Given the description of an element on the screen output the (x, y) to click on. 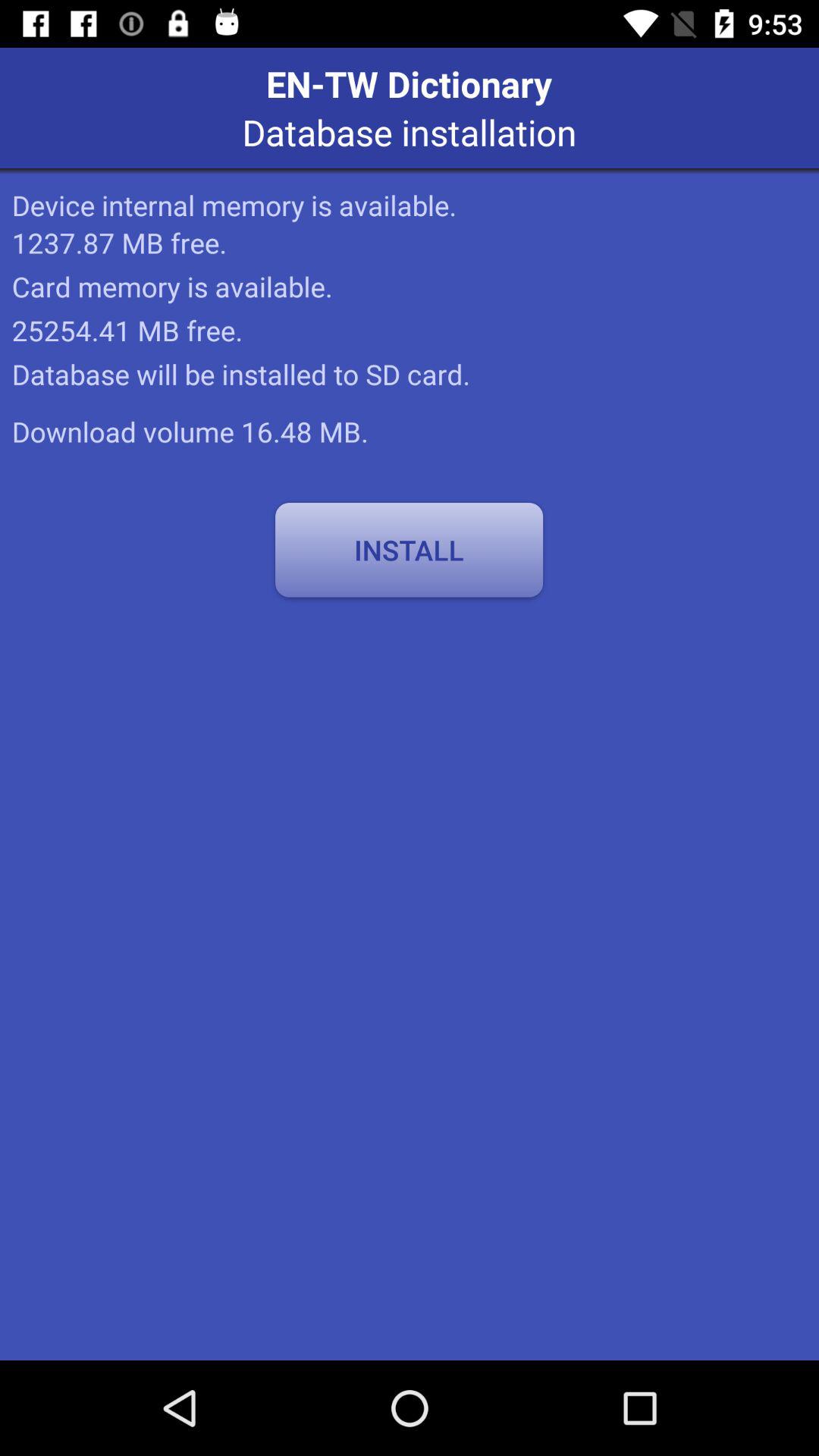
scroll to install item (408, 549)
